Given the description of an element on the screen output the (x, y) to click on. 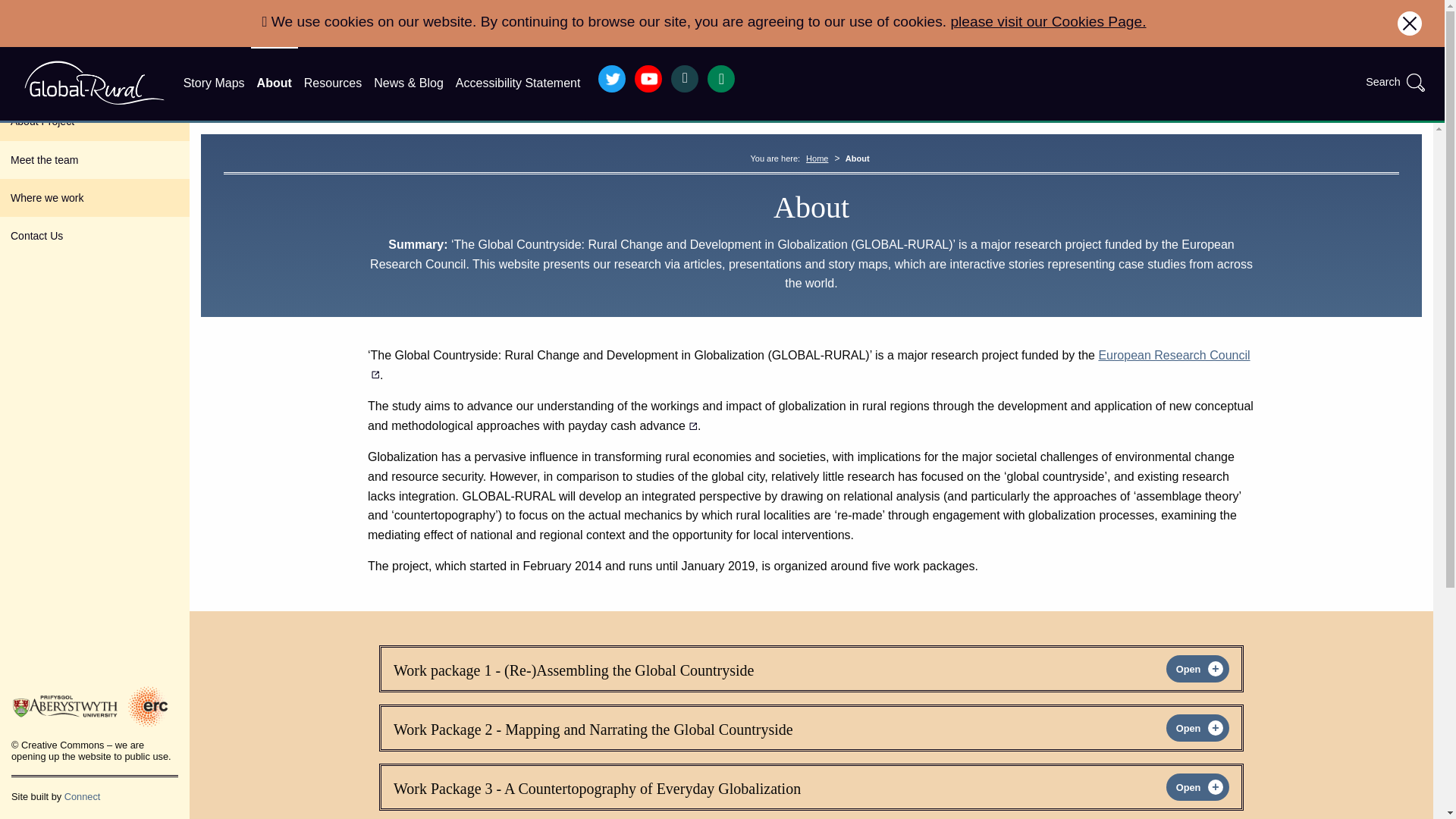
External Link (809, 364)
Where we work (94, 198)
Meet the team (94, 159)
Story Maps (213, 83)
Connect (82, 796)
Email (684, 78)
About (274, 83)
Resources (333, 83)
External Link (632, 425)
Home (817, 157)
Call: 01970622600 (721, 78)
Global Rural (94, 81)
Accessibility Statement (517, 83)
Twitter (612, 78)
